Given the description of an element on the screen output the (x, y) to click on. 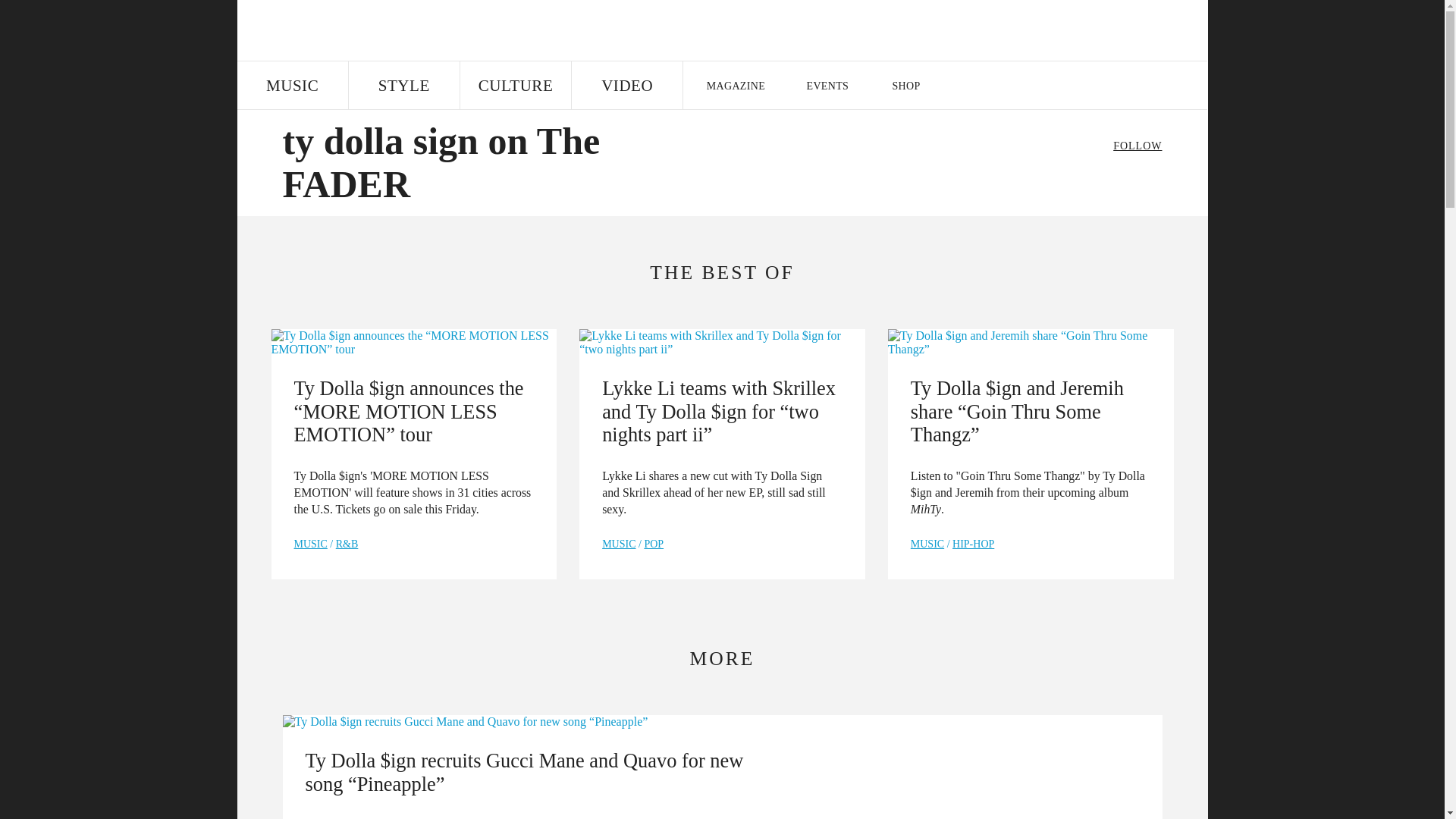
MUSIC (291, 85)
SHOP (905, 85)
STYLE (404, 85)
VIDEO (627, 85)
EVENTS (828, 85)
CULTURE (515, 85)
MAGAZINE (734, 85)
